Given the description of an element on the screen output the (x, y) to click on. 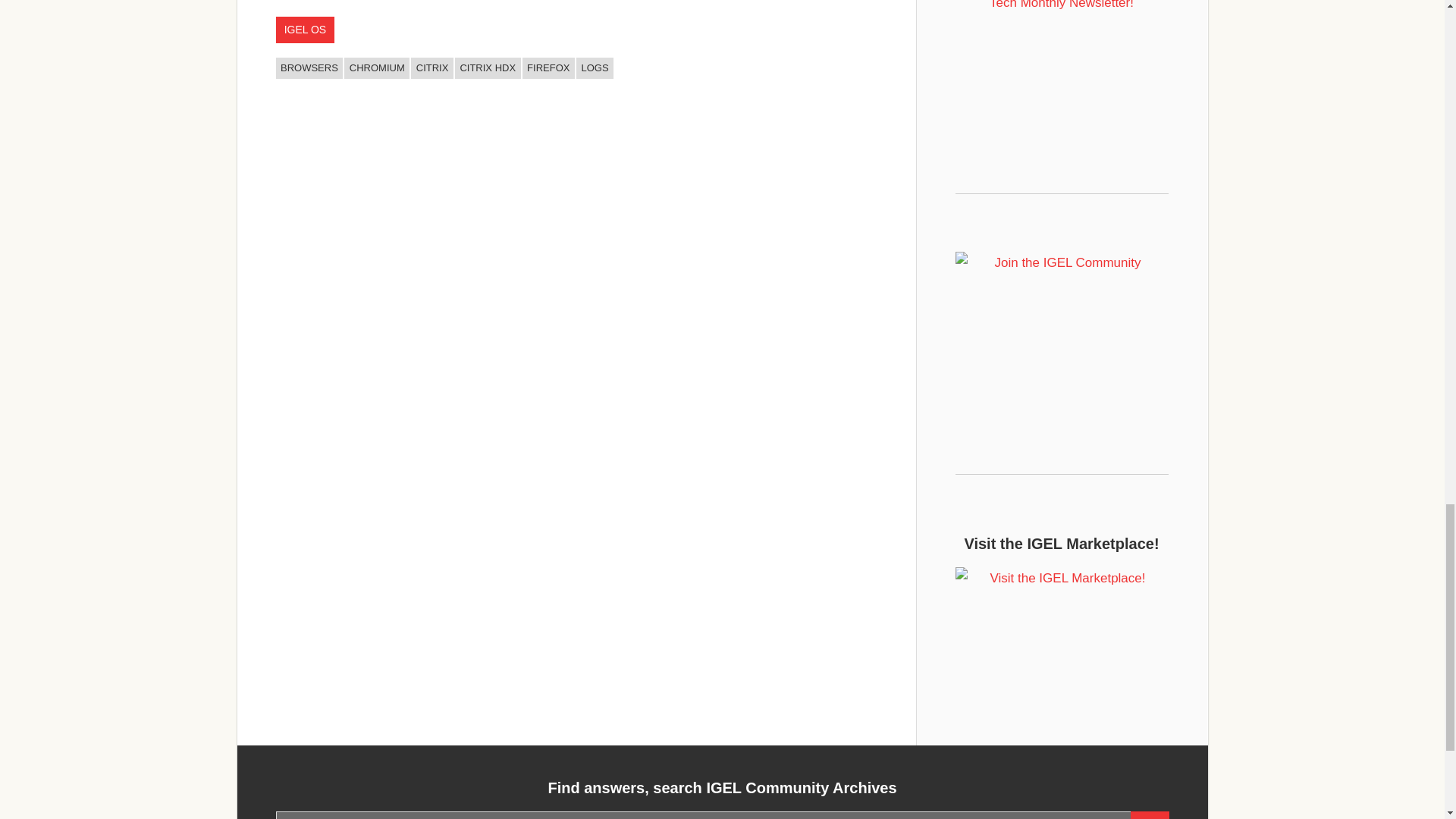
Subscribe to the Community Tech Monthly Newsletter (1062, 56)
Visit the IGEL Marketplace! (1062, 636)
